Given the description of an element on the screen output the (x, y) to click on. 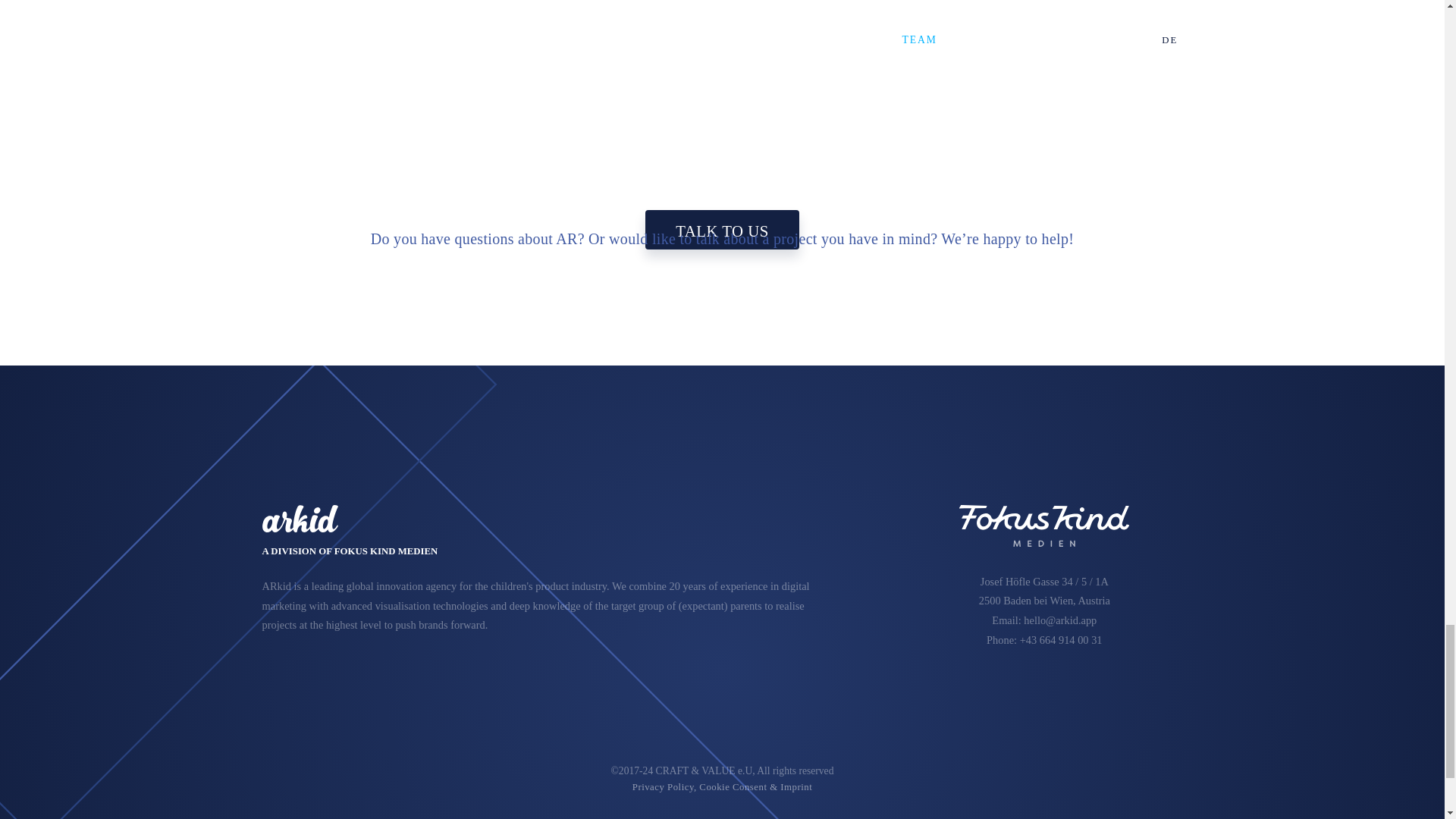
TALK TO US (722, 229)
